Given the description of an element on the screen output the (x, y) to click on. 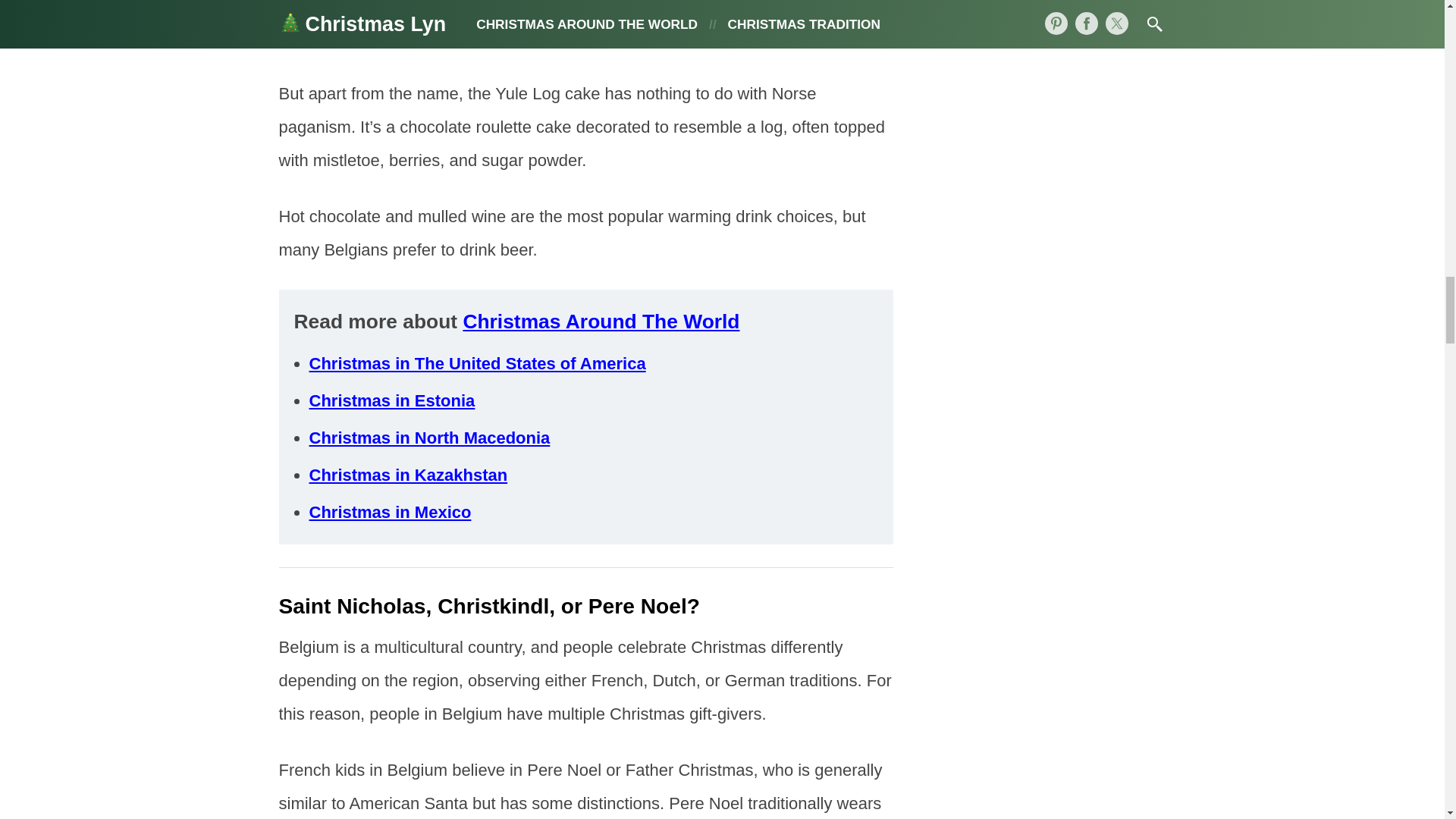
Christmas in Estonia (392, 400)
Advertisement (586, 27)
Christmas Around The World (601, 321)
Christmas in The United States of America (477, 363)
